Given the description of an element on the screen output the (x, y) to click on. 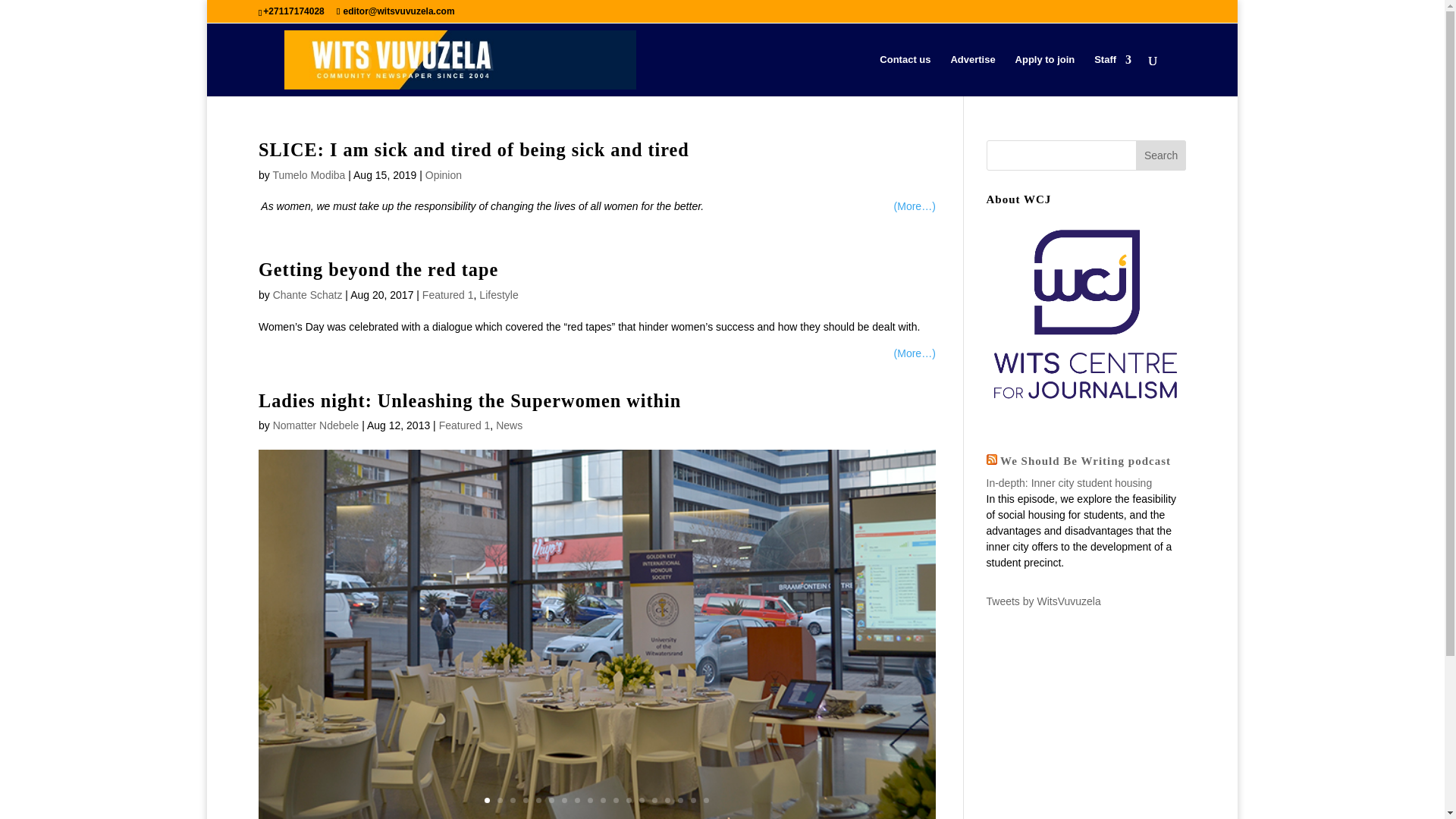
Contact us (904, 75)
Posts by Nomatter Ndebele (316, 425)
Search (1160, 155)
Posts by Chante Schatz (307, 295)
Advertise (972, 75)
Apply to join (1044, 75)
Staff (1112, 75)
Posts by Tumelo Modiba (308, 174)
